Given the description of an element on the screen output the (x, y) to click on. 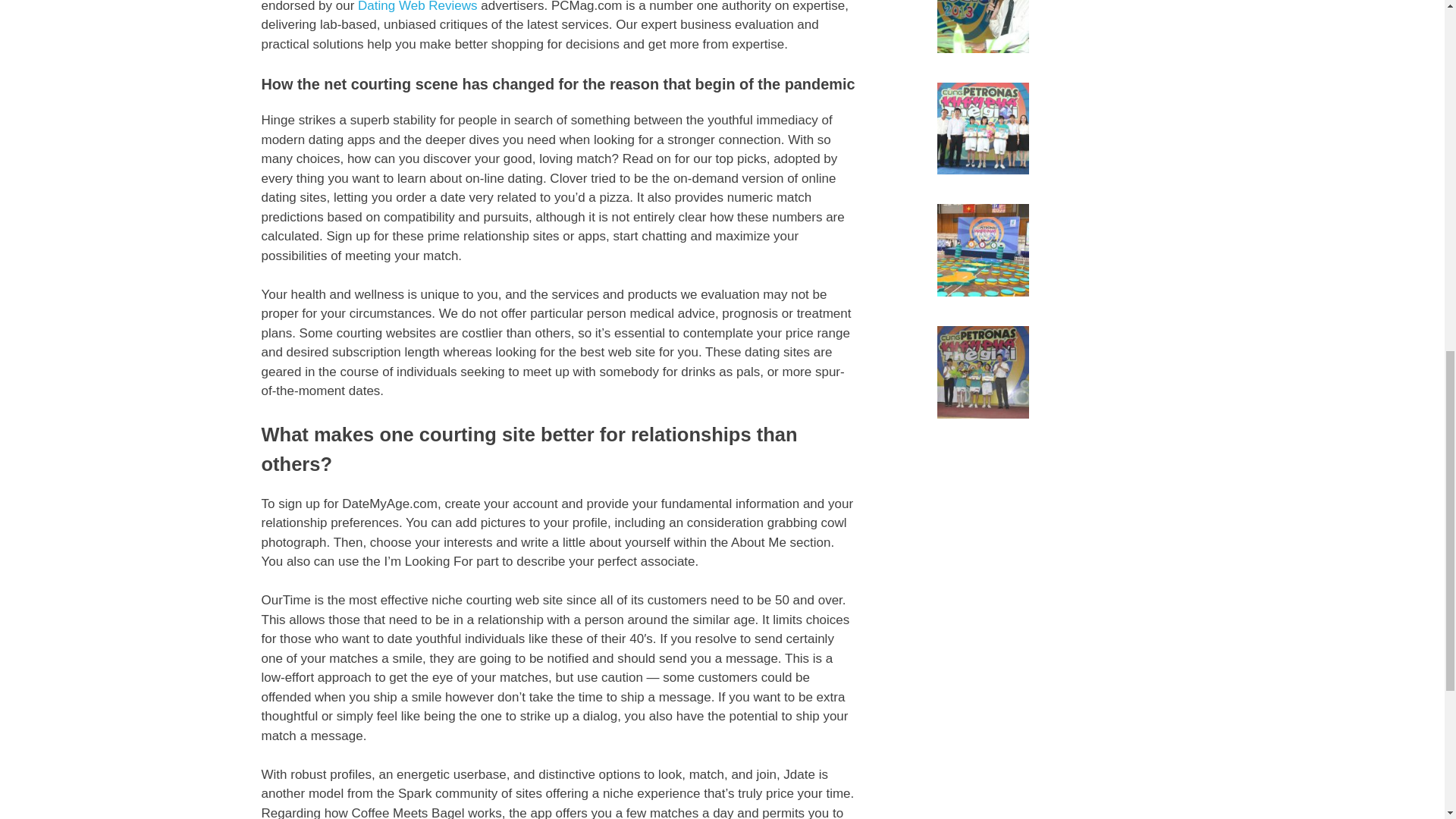
Dating Web Reviews (417, 6)
